Given the description of an element on the screen output the (x, y) to click on. 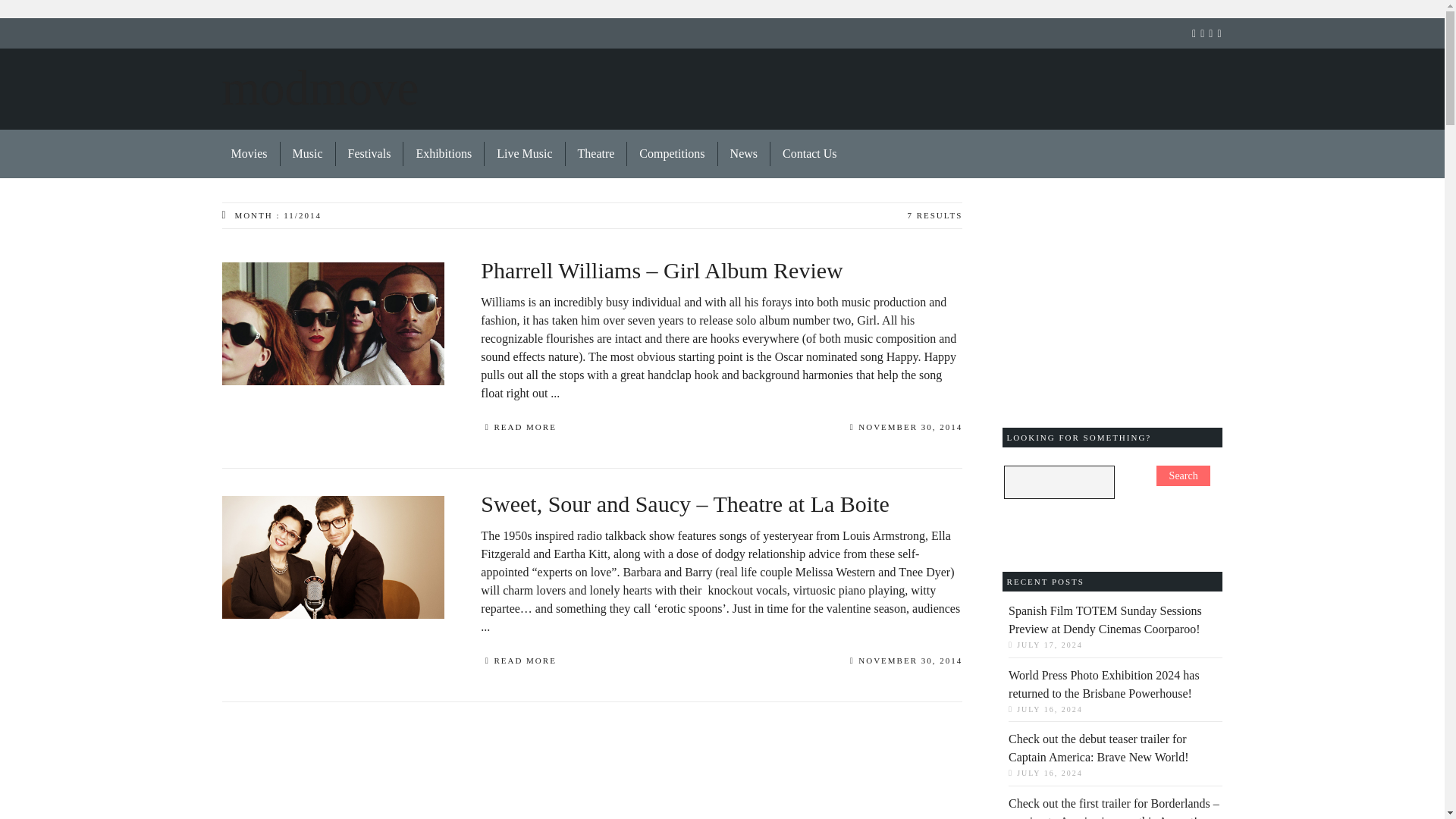
Music (308, 153)
READ MORE (518, 662)
NOVEMBER 30, 2014 (906, 428)
Exhibitions (443, 153)
Advertisement (1116, 297)
NOVEMBER 30, 2014 (906, 662)
Contact Us (803, 153)
Search (1183, 476)
News (743, 153)
READ MORE (518, 428)
Competitions (672, 153)
Advertisement (588, 760)
Advertisement (946, 90)
Movies (248, 153)
Festivals (368, 153)
